Given the description of an element on the screen output the (x, y) to click on. 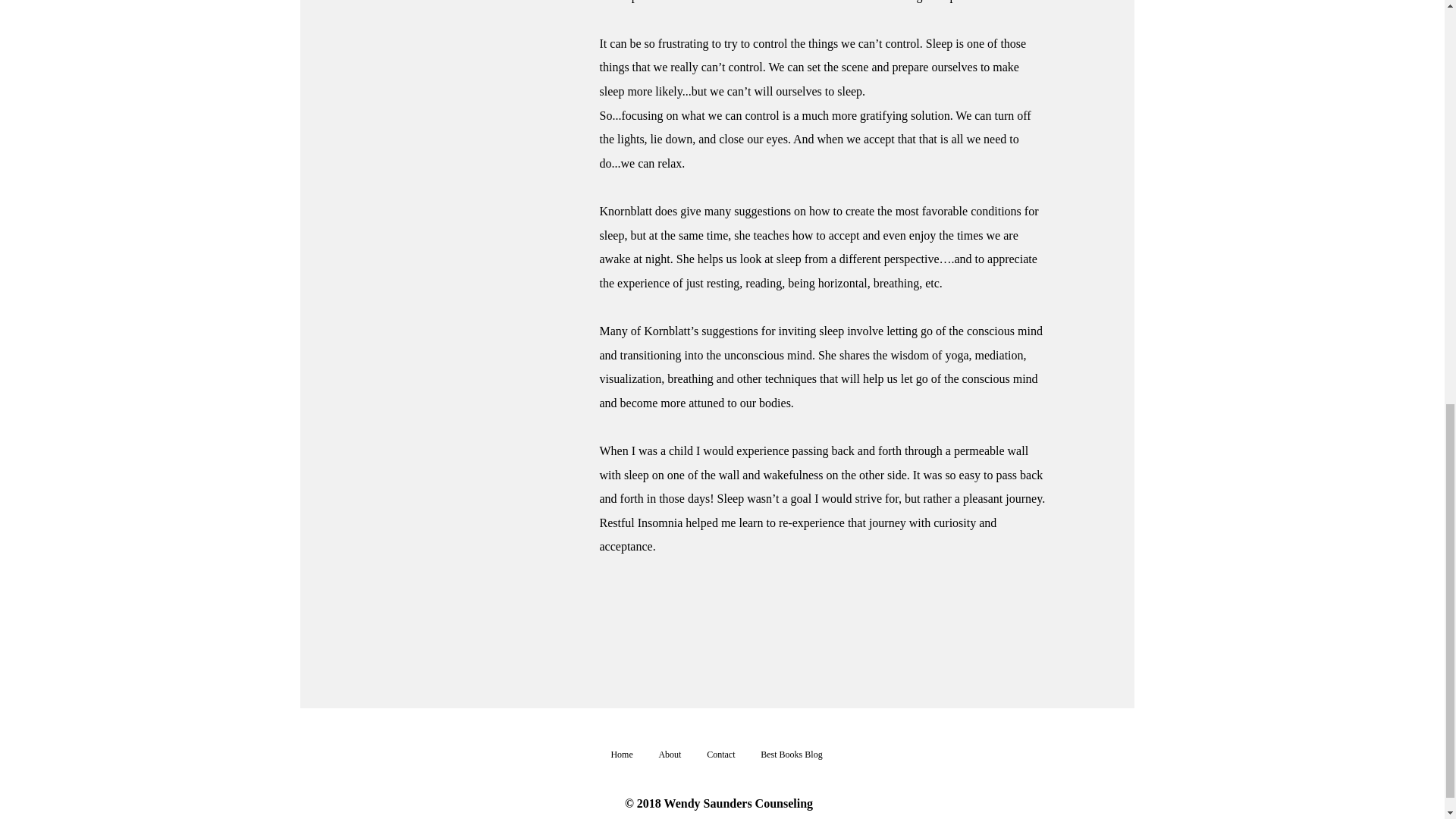
Home (620, 754)
Best Books Blog (791, 754)
About (670, 754)
Contact (721, 754)
